Given the description of an element on the screen output the (x, y) to click on. 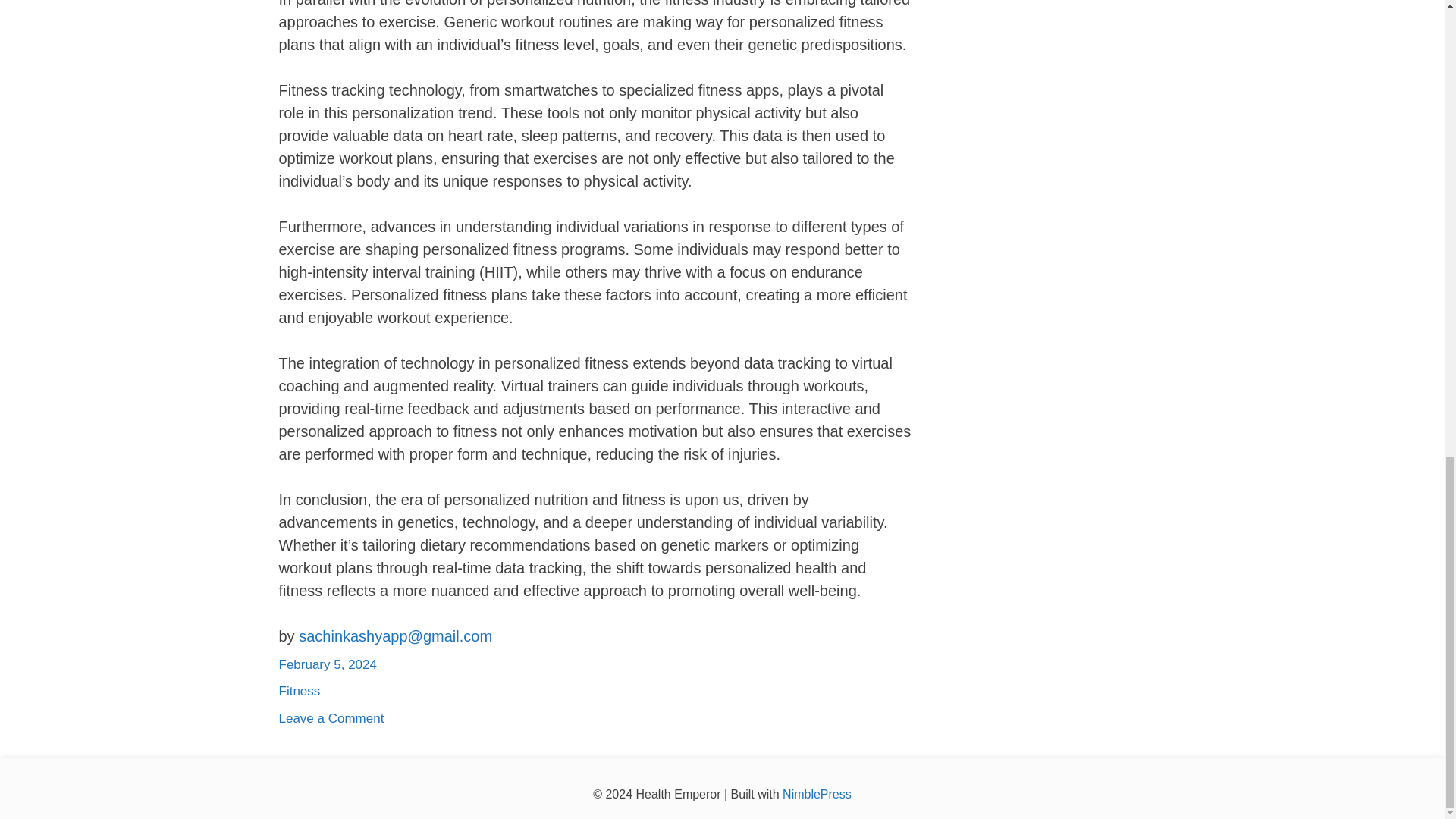
Fitness (299, 690)
 NimblePress (331, 718)
February 5, 2024 (814, 794)
